Given the description of an element on the screen output the (x, y) to click on. 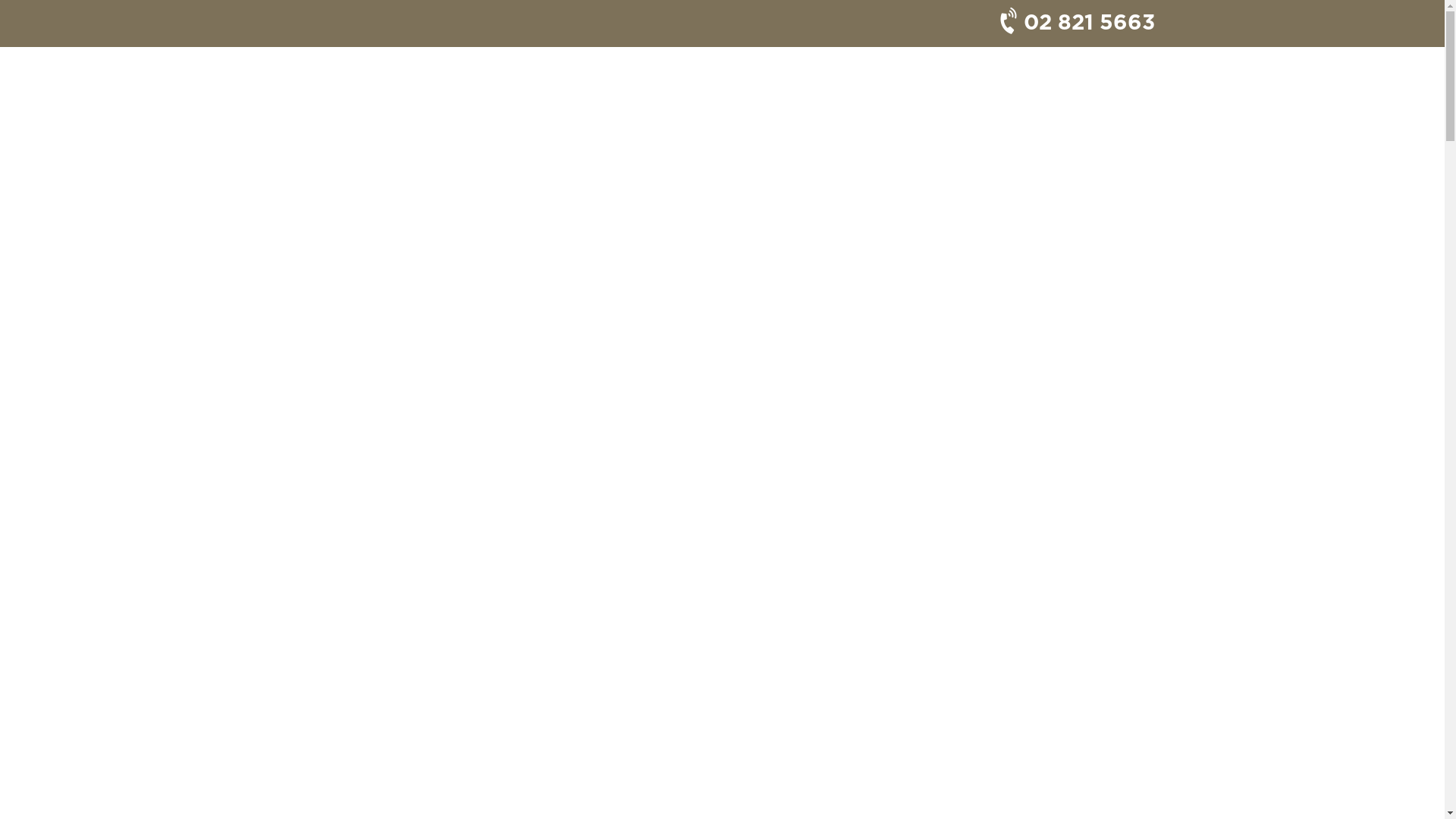
02 821 5663 Element type: text (1071, 23)
